Given the description of an element on the screen output the (x, y) to click on. 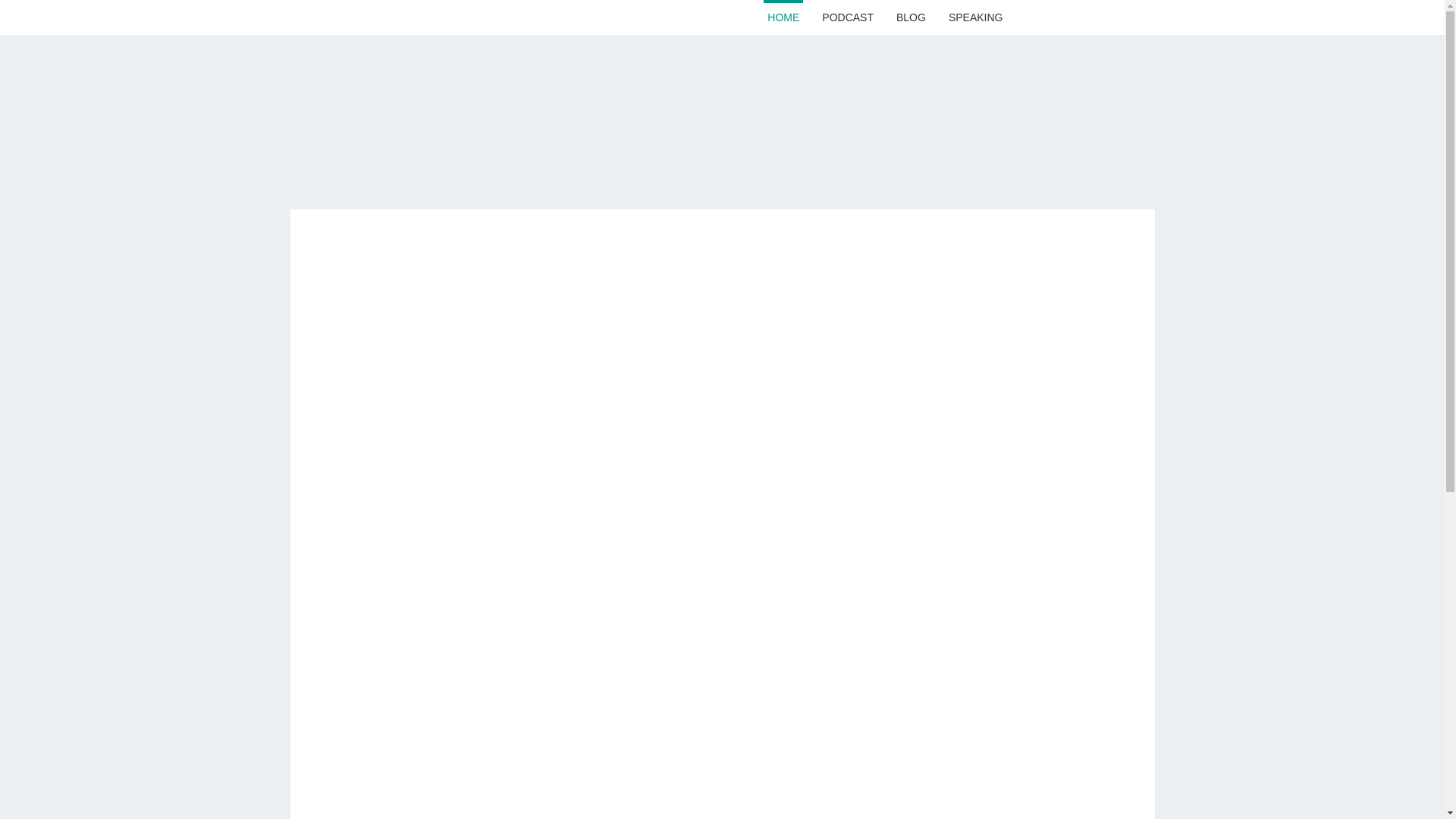
HOME (782, 17)
PODCAST (847, 17)
BLOG (911, 17)
SPEAKING (975, 17)
